Given the description of an element on the screen output the (x, y) to click on. 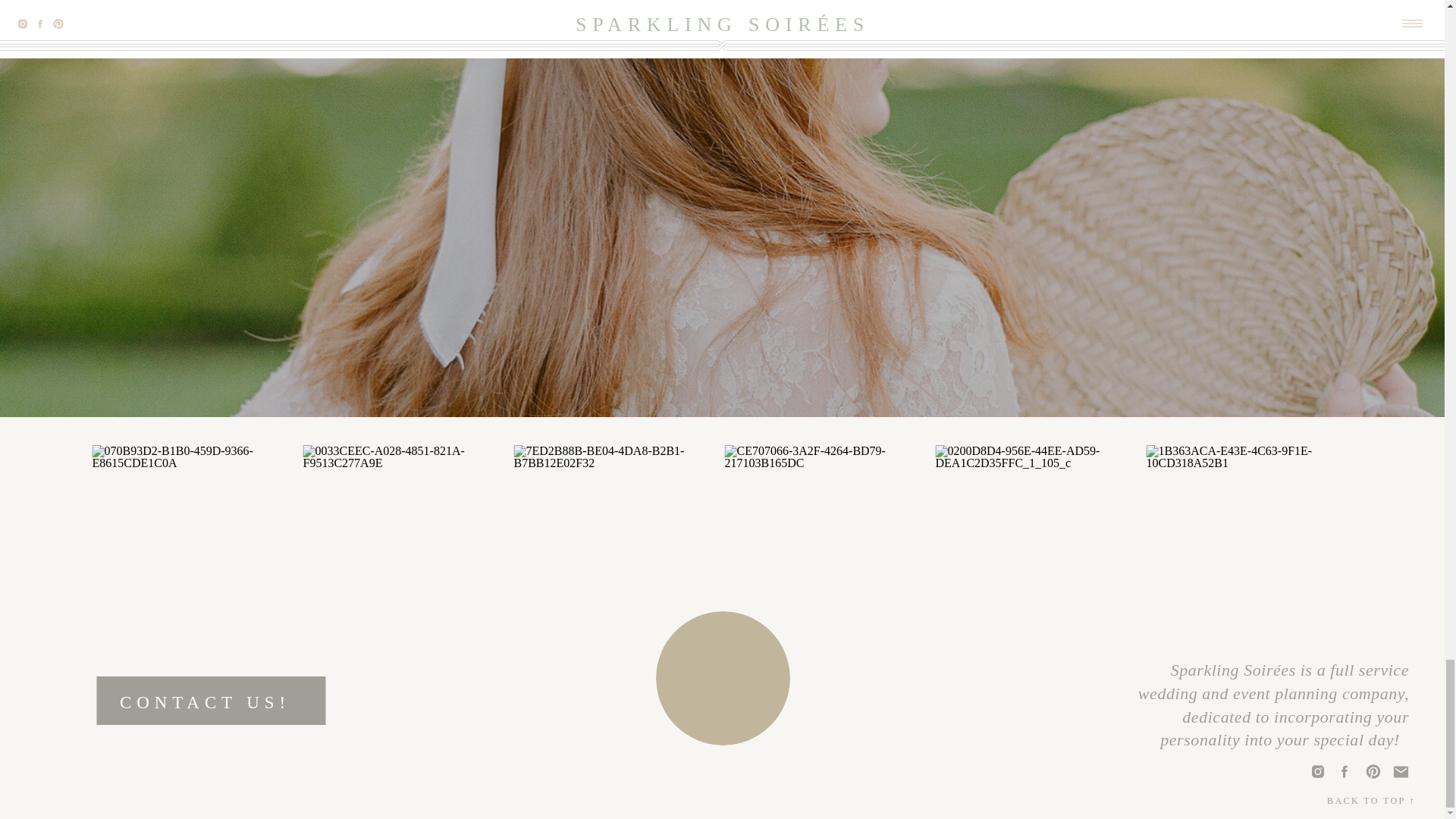
CONTACT US! (218, 696)
0033CEEC-A028-4851-821A-F9513C277A9E (405, 548)
7ED2B88B-BE04-4DA8-B2B1-B7BB12E02F32 (616, 548)
1B363ACA-E43E-4C63-9F1E-10CD318A52B1 (1249, 548)
070B93D2-B1B0-459D-9366-E8615CDE1C0A (195, 548)
CE707066-3A2F-4264-BD79-217103B165DC (828, 548)
